Given the description of an element on the screen output the (x, y) to click on. 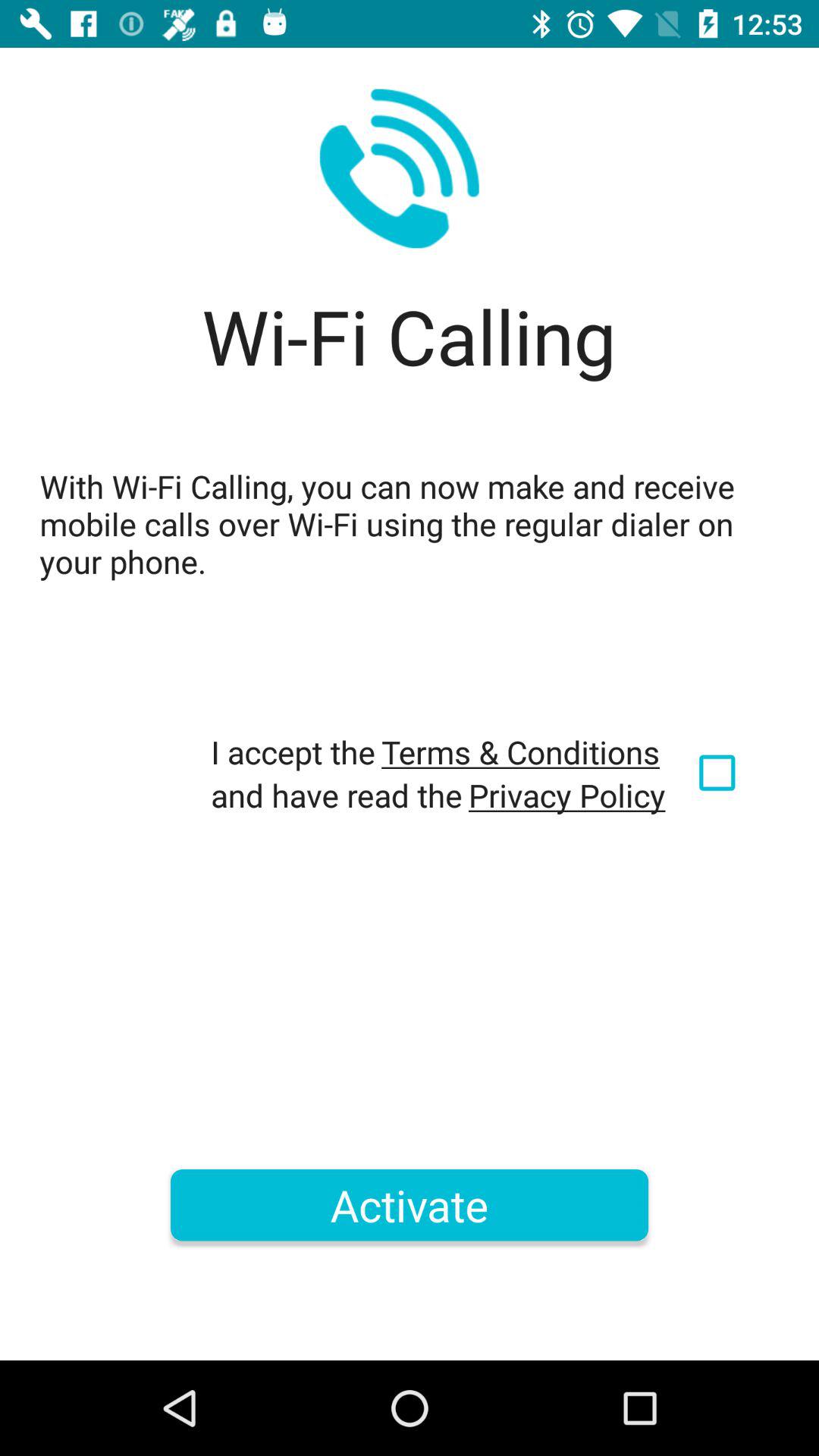
turn off the terms & conditions item (520, 751)
